Given the description of an element on the screen output the (x, y) to click on. 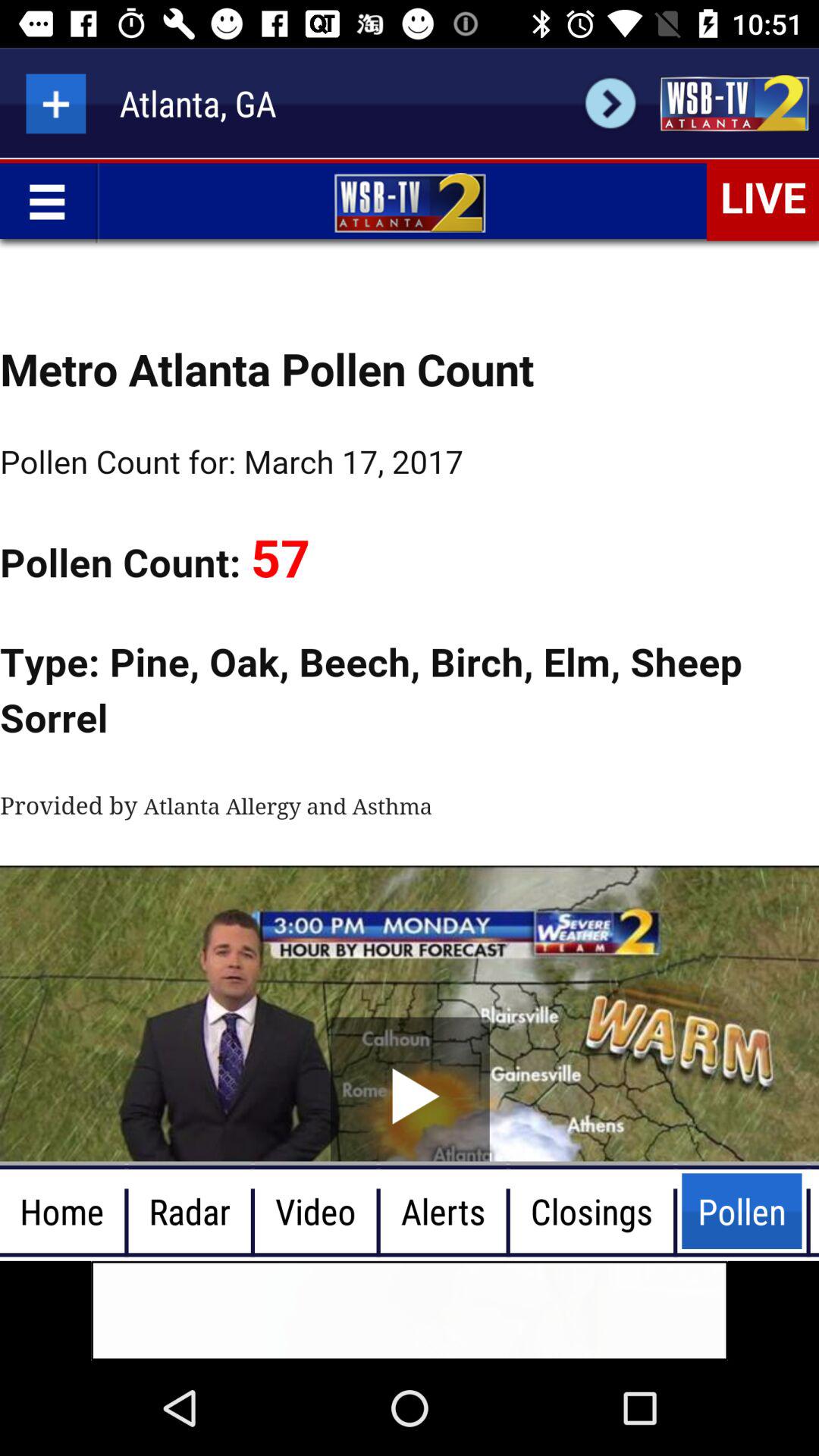
go to increase (55, 103)
